Given the description of an element on the screen output the (x, y) to click on. 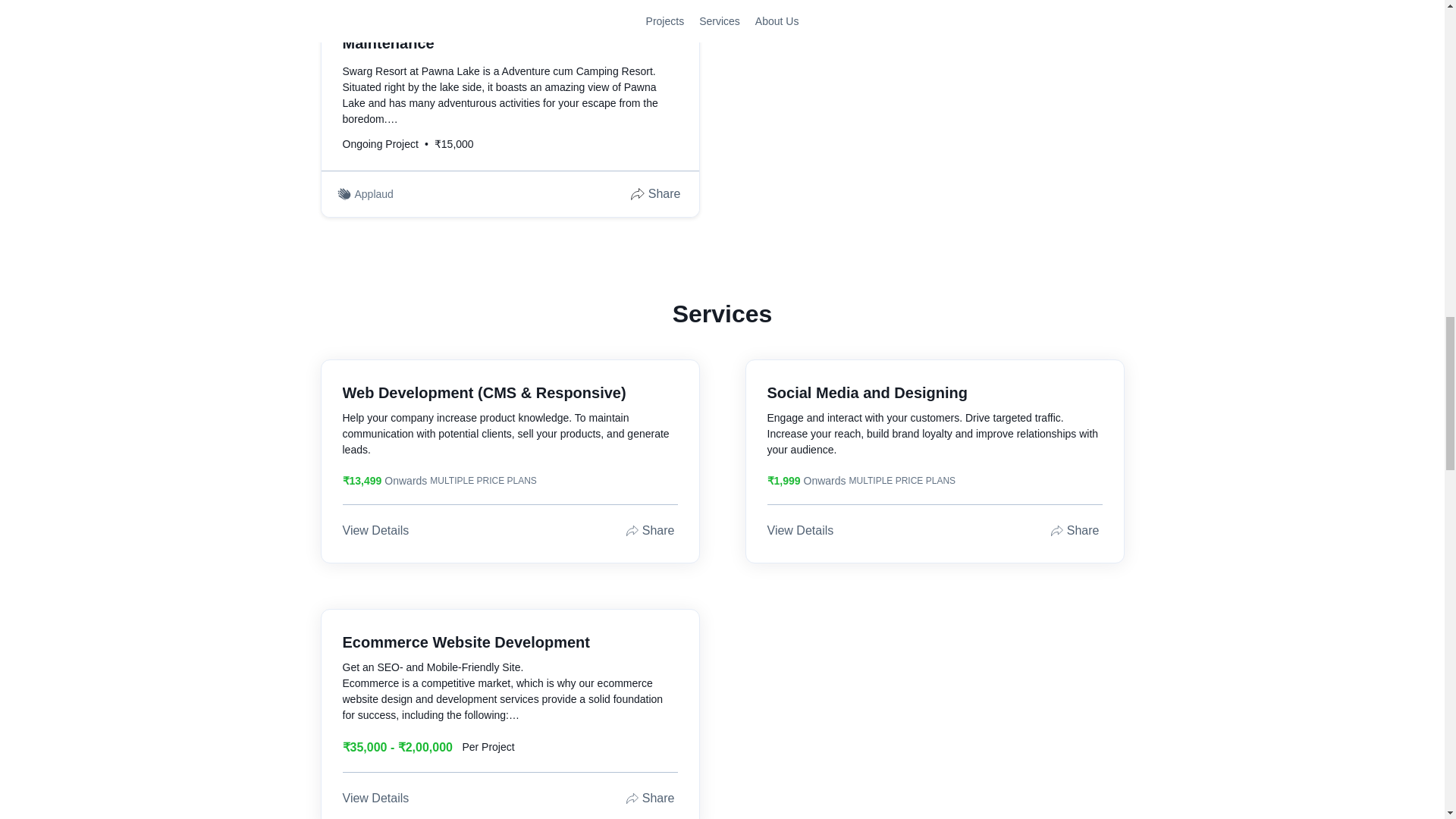
Share (652, 798)
View Details (377, 530)
View Details (377, 798)
View Details (802, 530)
Share (1075, 530)
Share (1081, 6)
Share (652, 530)
Applaud (799, 6)
Share (657, 193)
Applaud (375, 193)
